Given the description of an element on the screen output the (x, y) to click on. 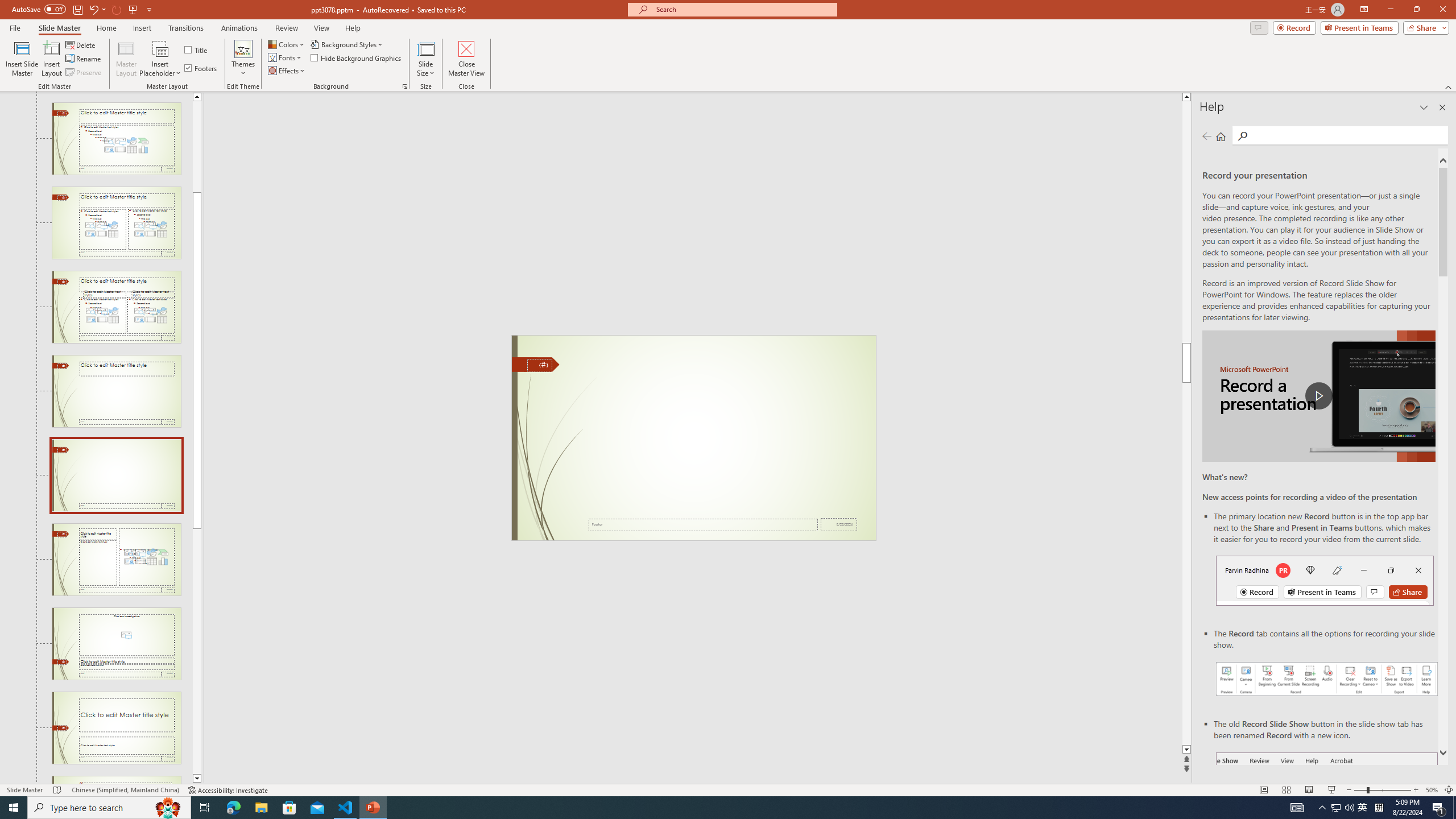
play Record a Presentation (1318, 395)
Record your presentations screenshot one (1326, 678)
Insert Placeholder (160, 58)
Slide Title and Content Layout: used by no slides (116, 138)
